Given the description of an element on the screen output the (x, y) to click on. 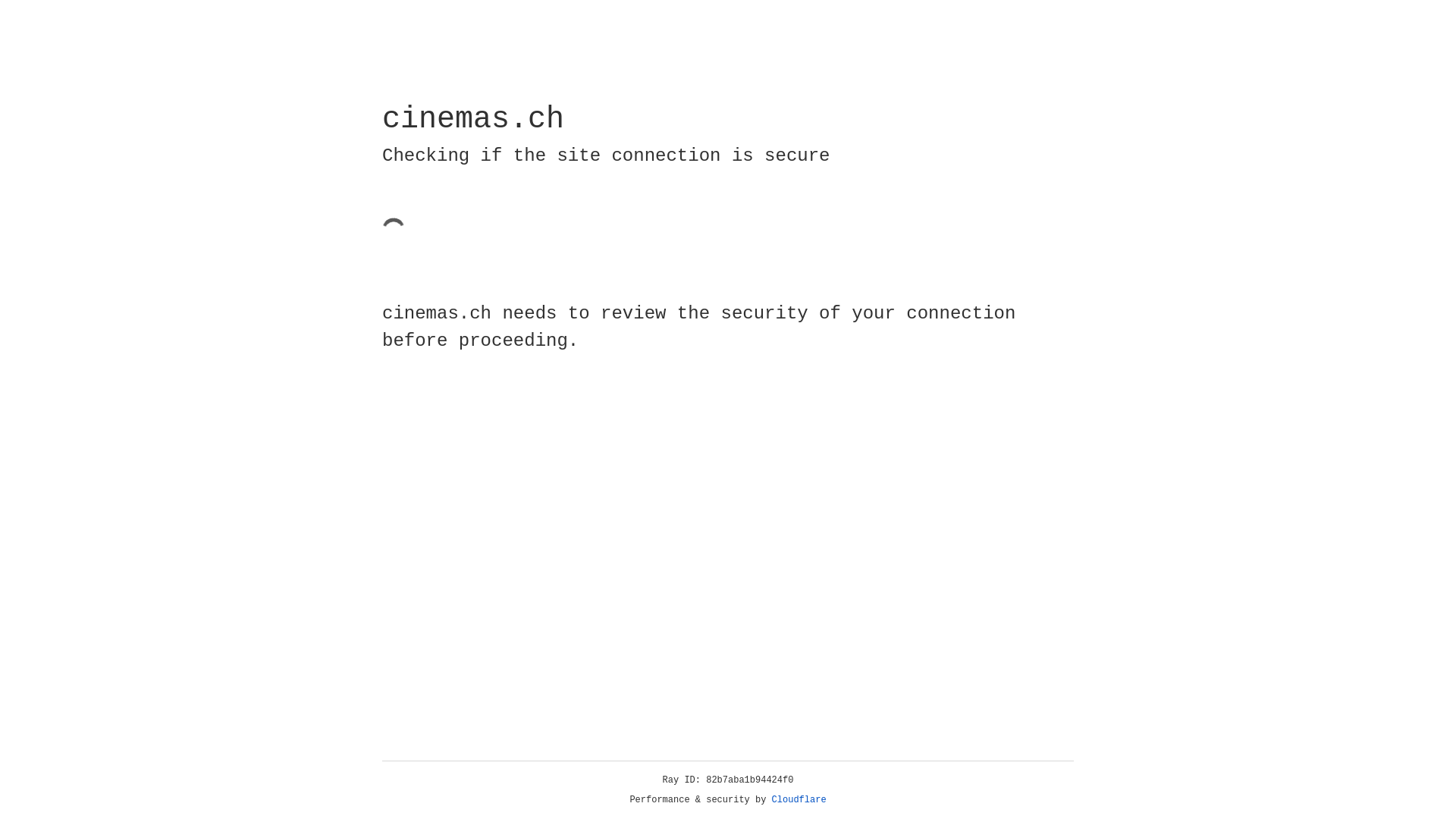
Cloudflare Element type: text (798, 799)
